Given the description of an element on the screen output the (x, y) to click on. 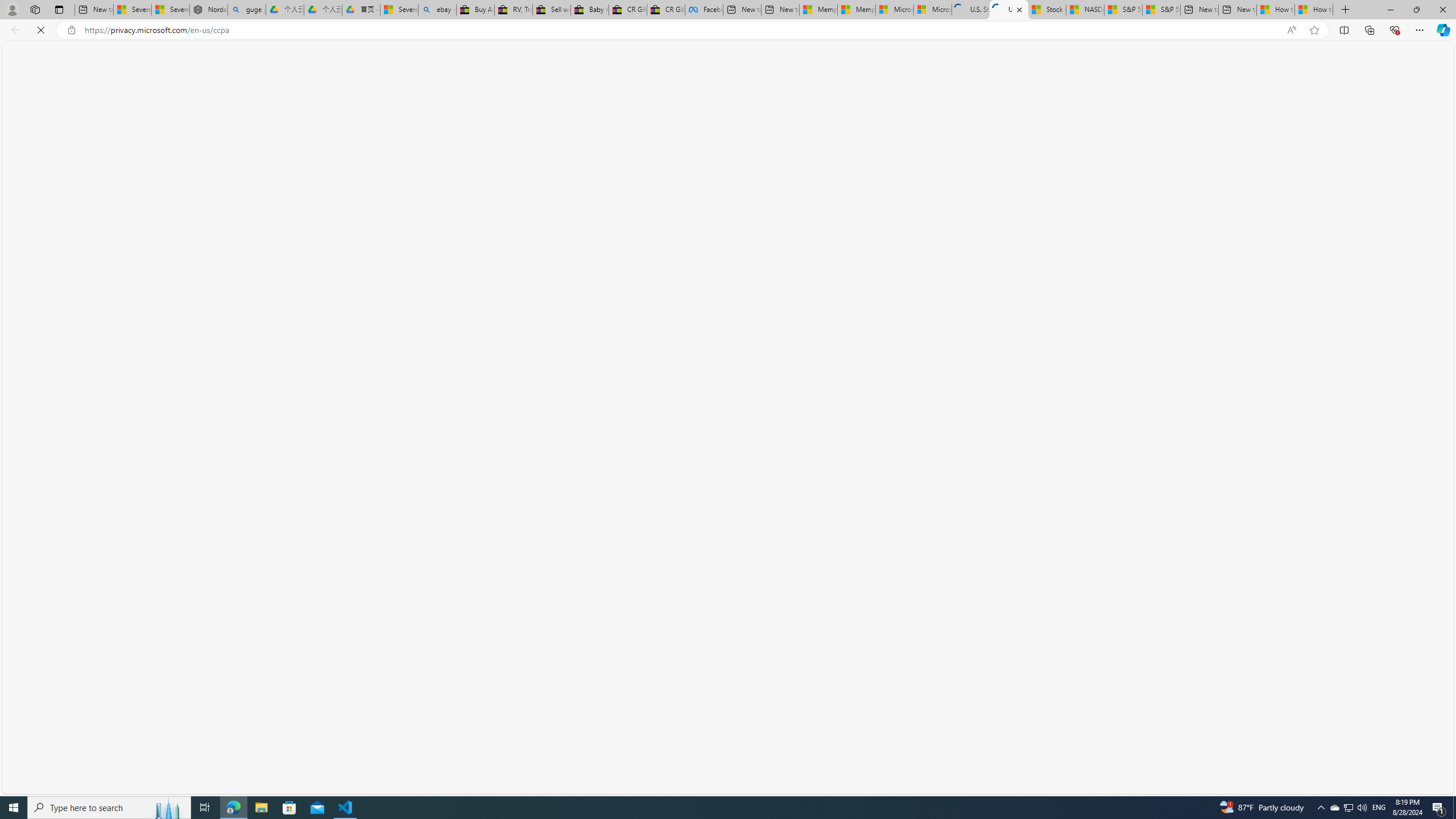
guge yunpan - Search (246, 9)
Buy Auto Parts & Accessories | eBay (475, 9)
S&P 500, Nasdaq end lower, weighed by Nvidia dip | Watch (1161, 9)
Facebook (703, 9)
